Given the description of an element on the screen output the (x, y) to click on. 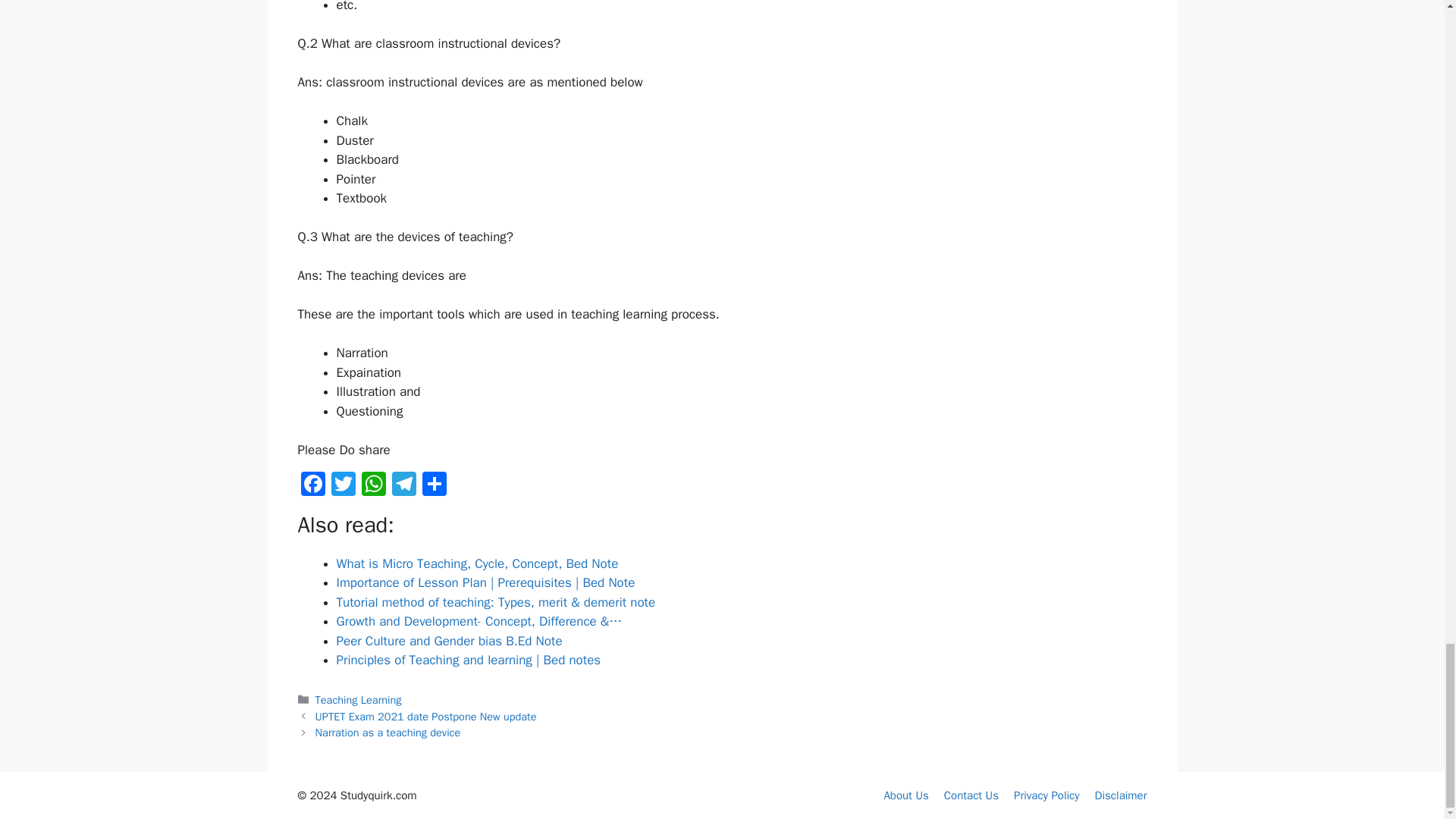
WhatsApp (373, 485)
Facebook (312, 485)
Twitter (342, 485)
Twitter (342, 485)
WhatsApp (373, 485)
Facebook (312, 485)
Telegram (403, 485)
